Given the description of an element on the screen output the (x, y) to click on. 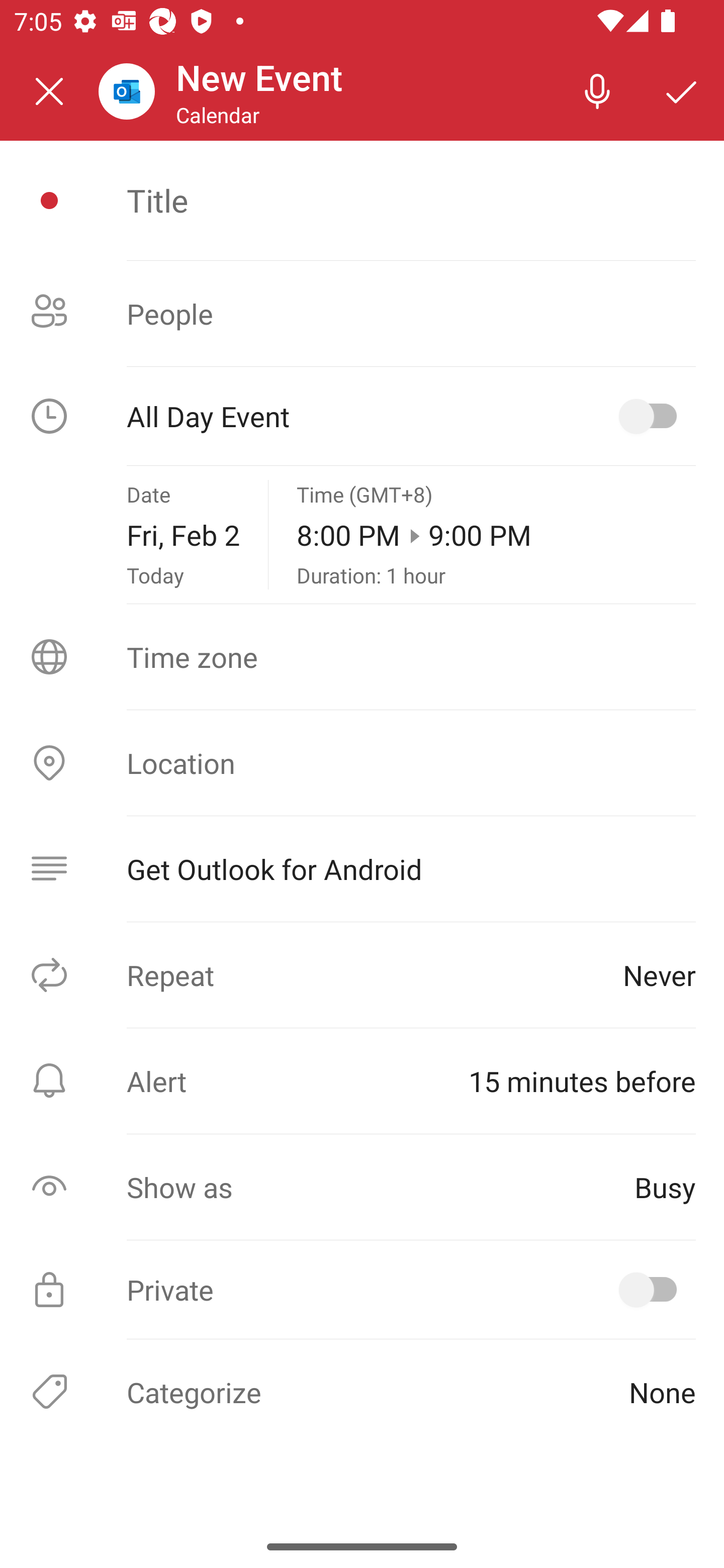
Close (49, 91)
Save button (681, 90)
Title (410, 200)
Event icon picker (48, 200)
People (362, 313)
All Day Event (362, 415)
Date Fri, Feb 2 Today (182, 534)
Time (GMT+8) 8:00 PM ▸ 9:00 PM Duration: 1 hour (496, 534)
Time zone (362, 656)
Location (362, 762)
Repeat Never (362, 974)
Alert ⁨15 minutes before (362, 1080)
Show as Busy (362, 1186)
Private (362, 1289)
Categorize None (362, 1391)
